Given the description of an element on the screen output the (x, y) to click on. 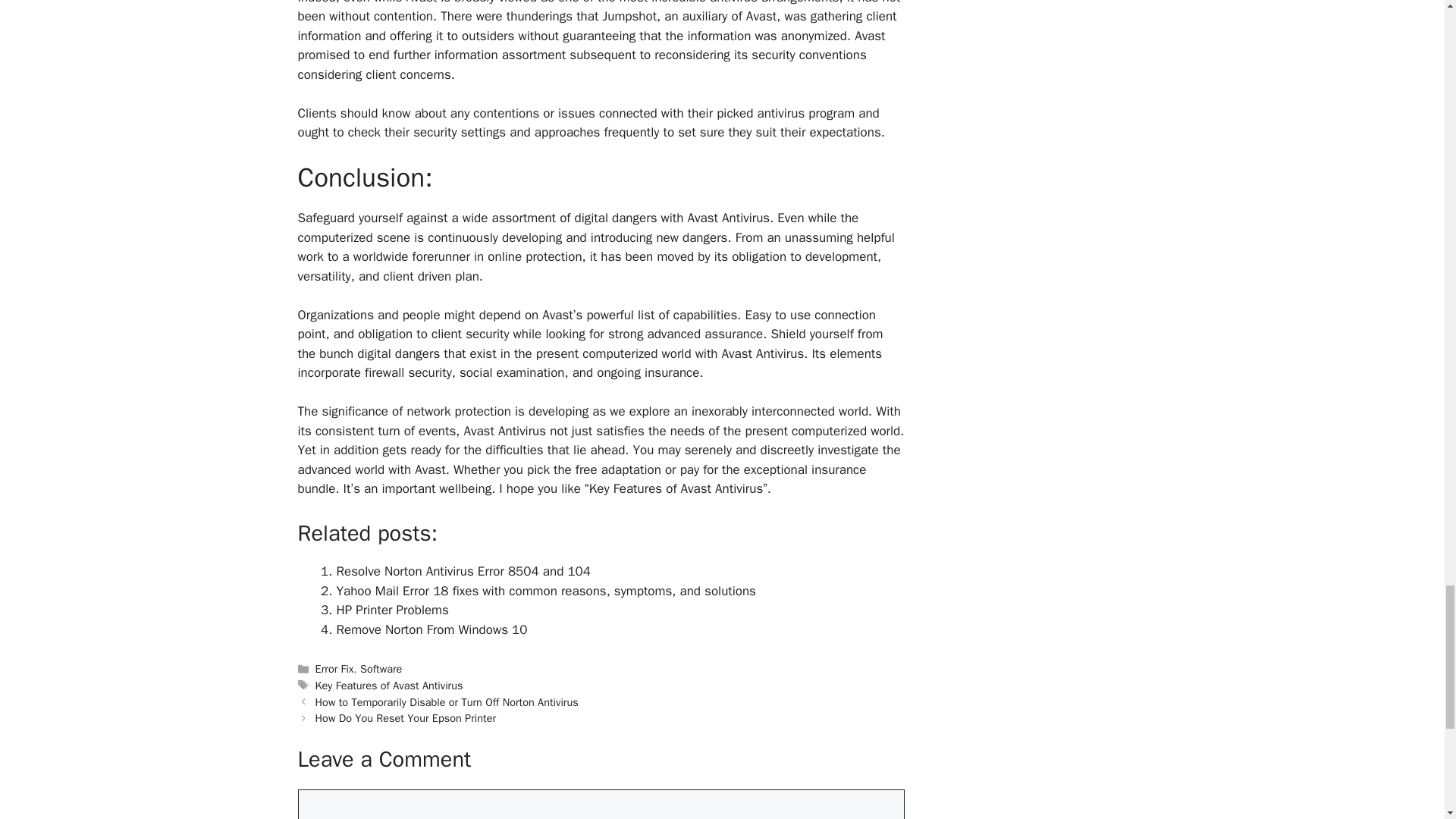
HP Printer Problems (392, 609)
Error Fix (334, 668)
Key Features of Avast Antivirus (389, 685)
Software (380, 668)
Remove Norton From Windows 10 (431, 629)
Remove Norton From Windows 10 (431, 629)
HP Printer Problems (392, 609)
Resolve Norton Antivirus Error 8504 and 104 (463, 571)
